Given the description of an element on the screen output the (x, y) to click on. 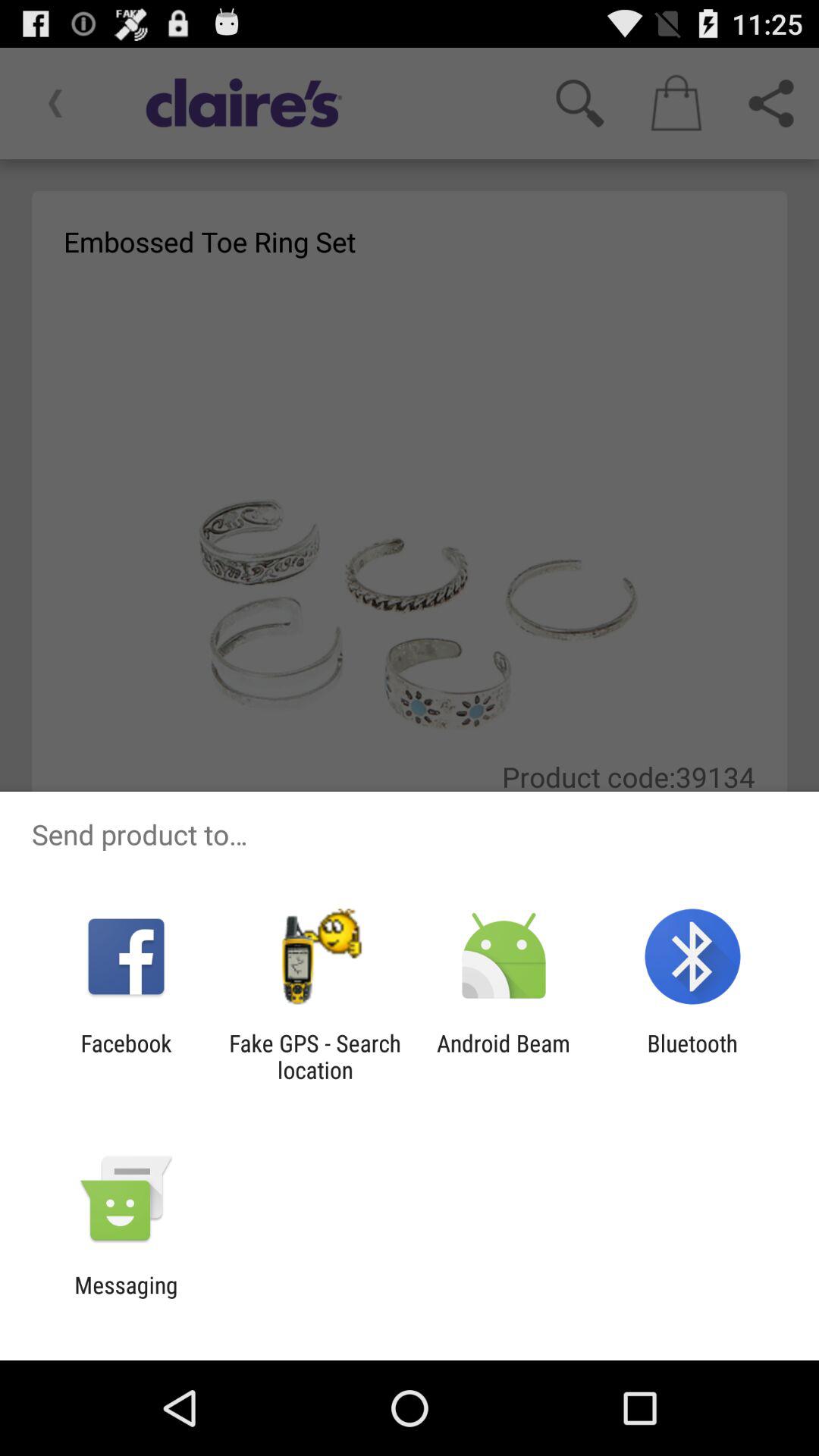
jump until facebook app (125, 1056)
